Given the description of an element on the screen output the (x, y) to click on. 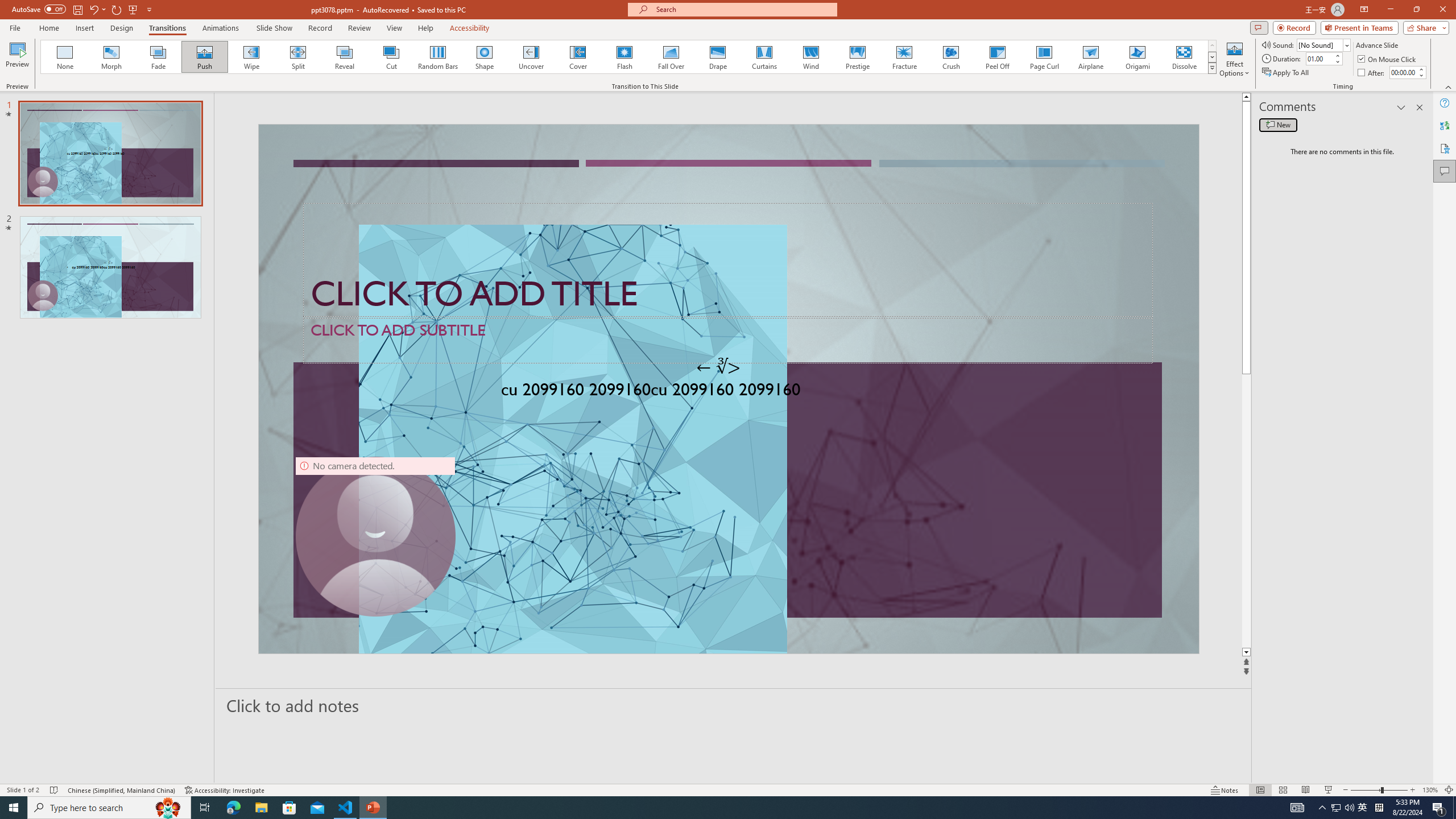
After (1403, 72)
Transition Effects (1212, 67)
Airplane (1090, 56)
Reveal (344, 56)
Camera 9, No camera detected. (374, 536)
After (1372, 72)
TextBox 7 (718, 367)
